Given the description of an element on the screen output the (x, y) to click on. 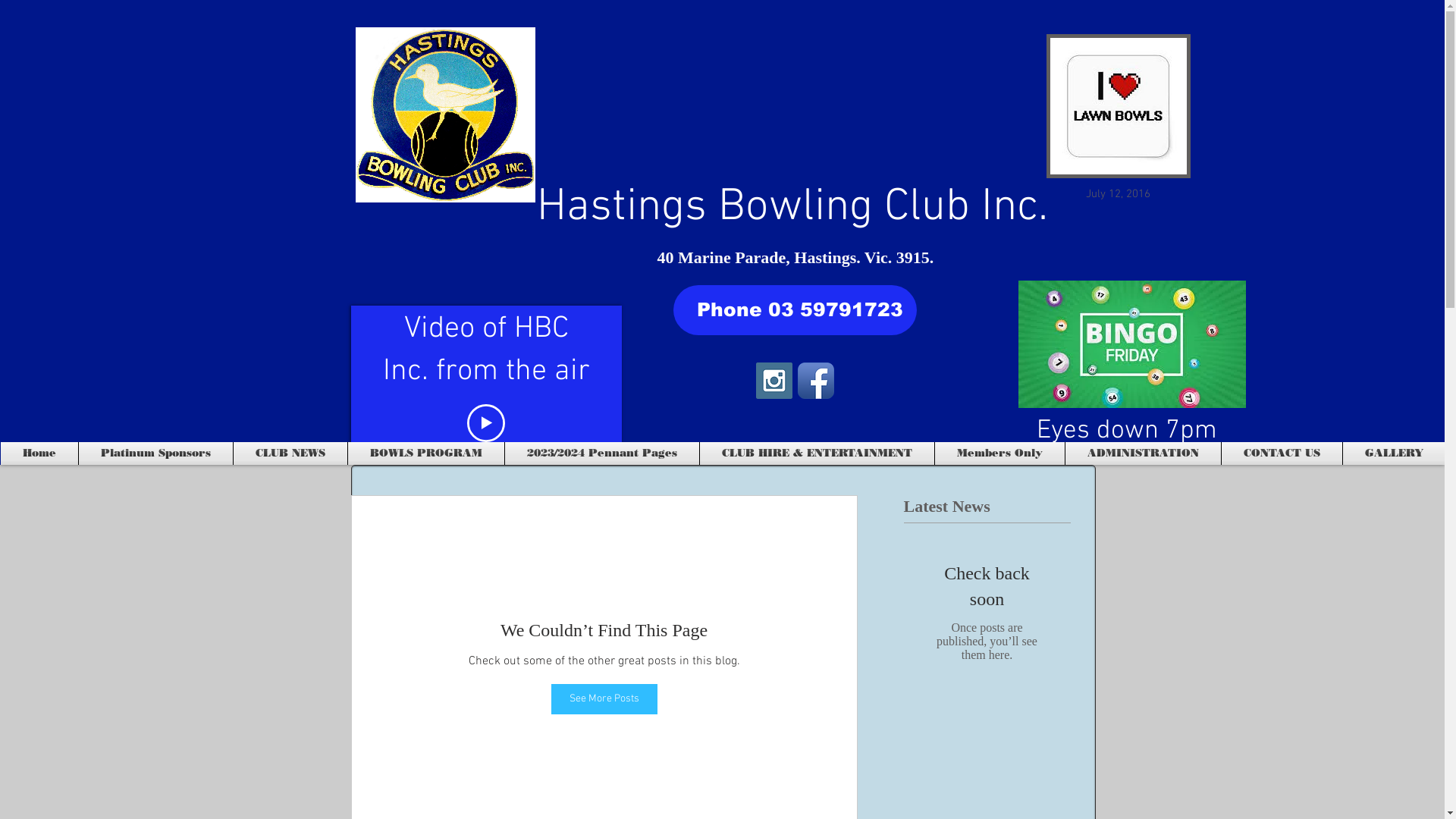
CLUB NEWS Element type: text (290, 453)
Home Element type: text (39, 453)
See More Posts Element type: text (603, 699)
CLUB HIRE & ENTERTAINMENT Element type: text (816, 453)
CONTACT US Element type: text (1281, 453)
I lve LB images.jpg Element type: hover (1118, 106)
GALLERY Element type: text (1393, 453)
Members Only Element type: text (999, 453)
Platinum Sponsors Element type: text (155, 453)
Phone 03 59791723 Element type: text (794, 310)
